Given the description of an element on the screen output the (x, y) to click on. 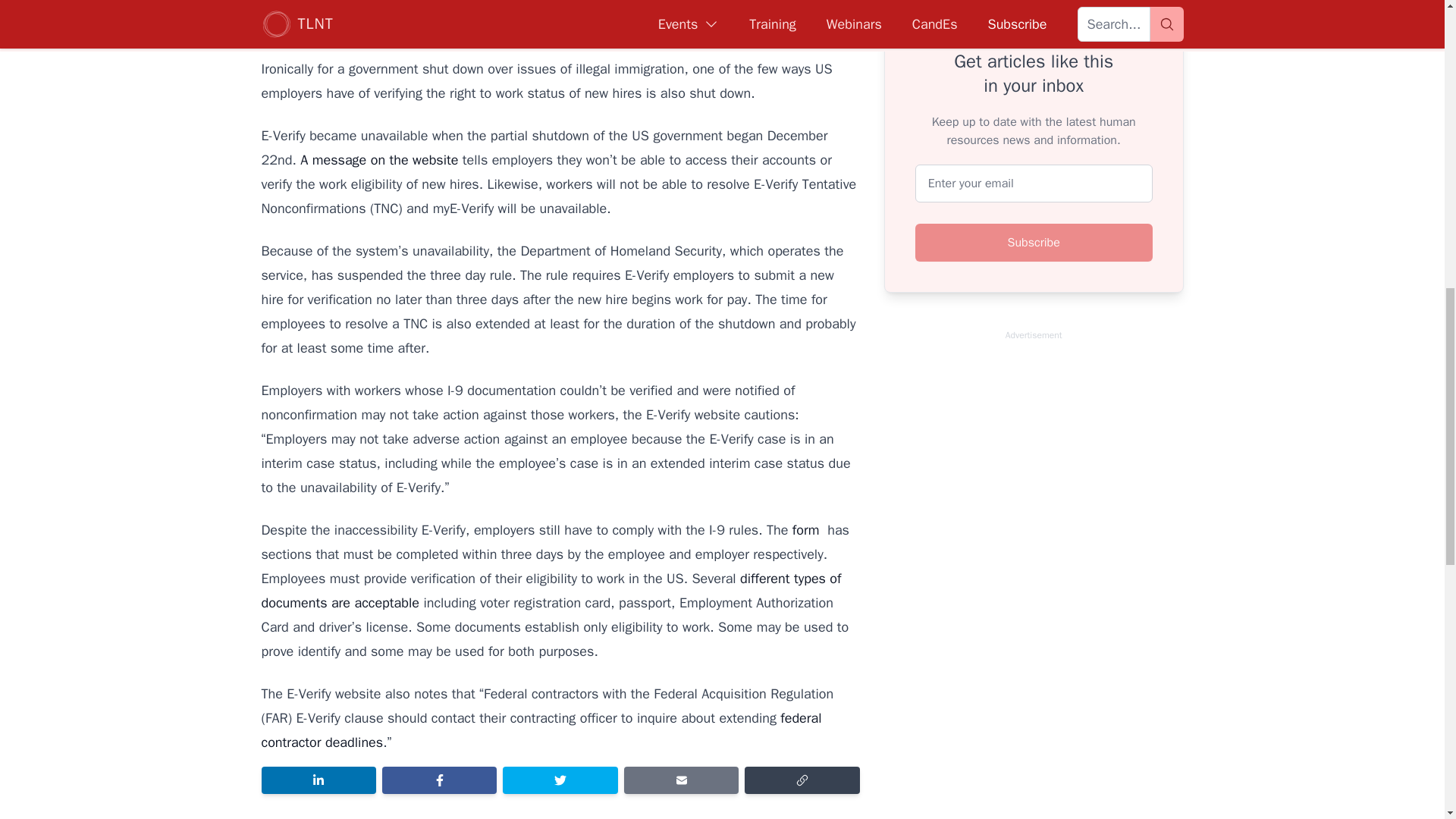
A message on the website (377, 159)
Timeframes for Enrollment and Use (540, 730)
federal contractor deadlines (540, 730)
form  (809, 529)
different types of documents are acceptable (550, 590)
